Given the description of an element on the screen output the (x, y) to click on. 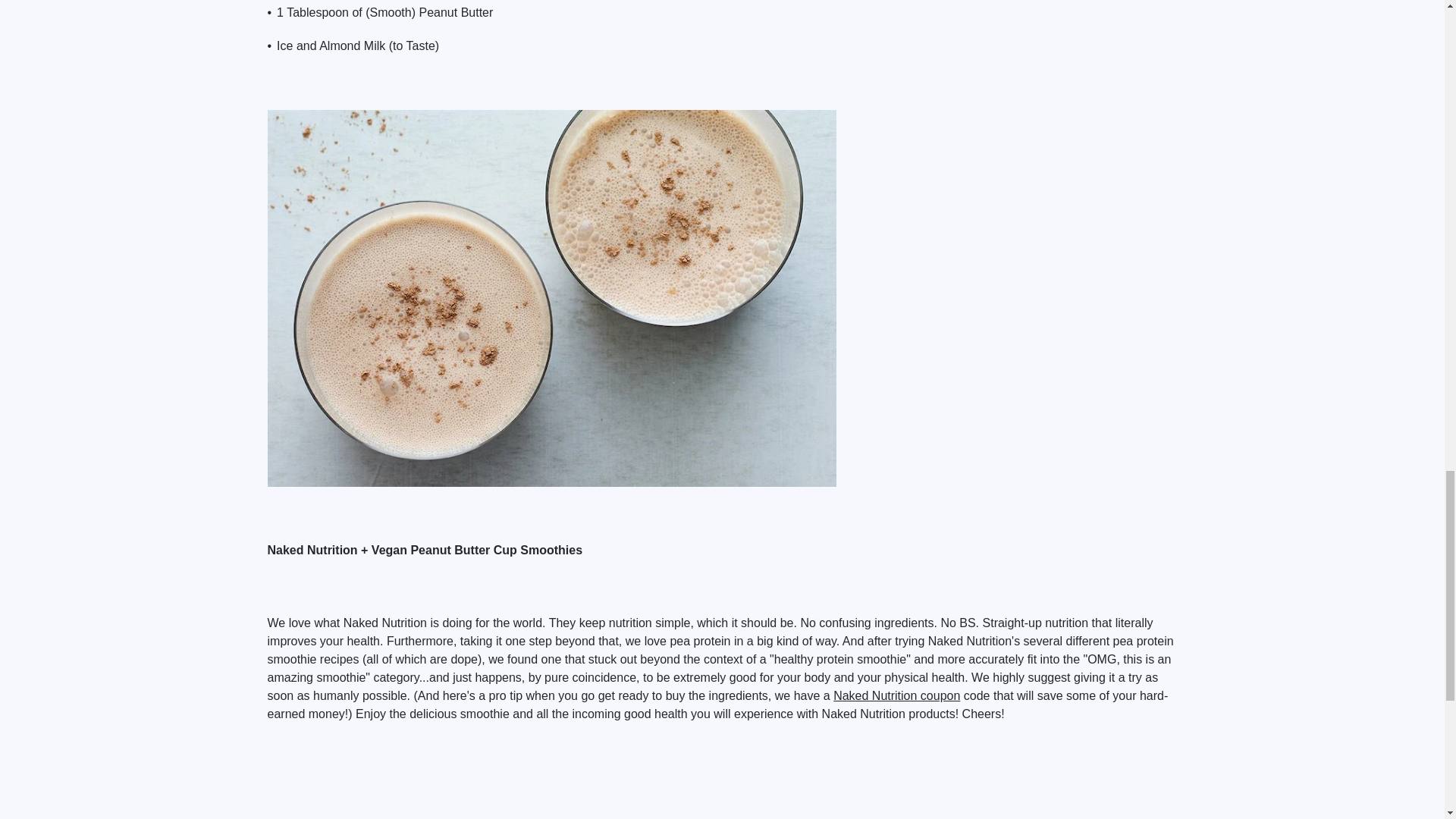
Naked Nutrition coupon (895, 695)
